Given the description of an element on the screen output the (x, y) to click on. 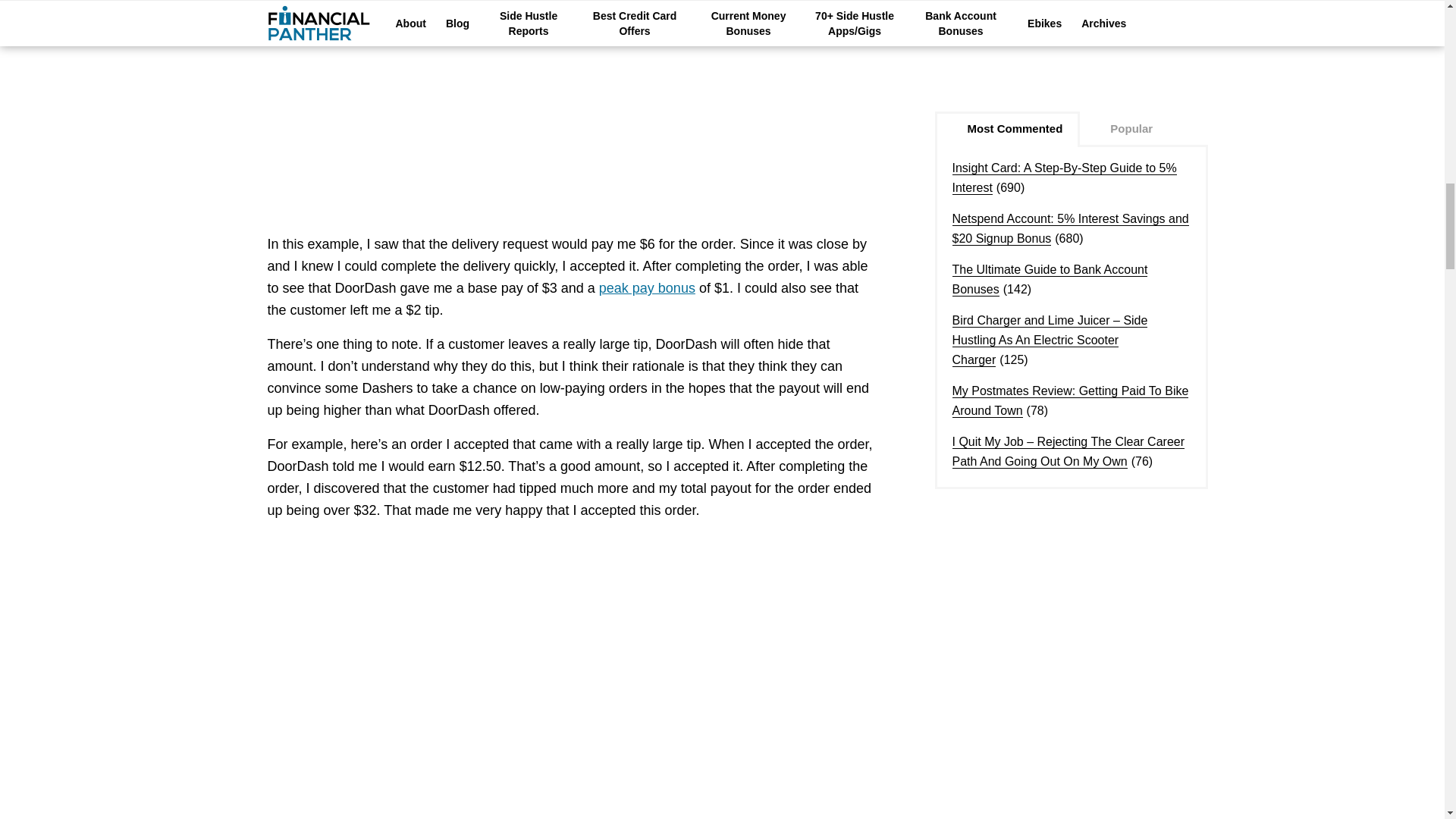
My Postmates Review: Getting Paid To Bike Around Town (1070, 400)
peak pay bonus (646, 287)
The Ultimate Guide to Bank Account Bonuses (1050, 279)
